Given the description of an element on the screen output the (x, y) to click on. 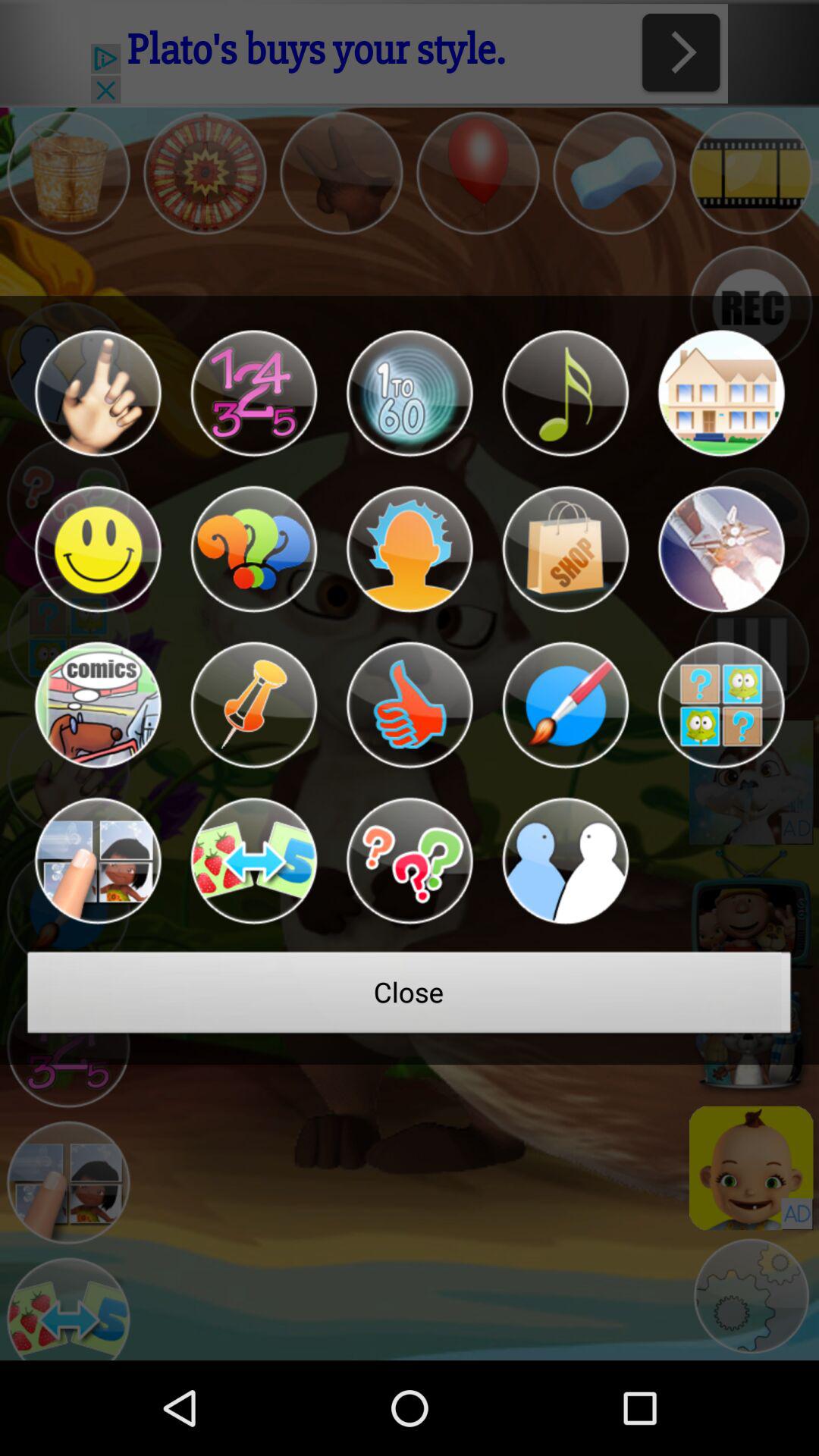
a button to select a game (253, 861)
